Given the description of an element on the screen output the (x, y) to click on. 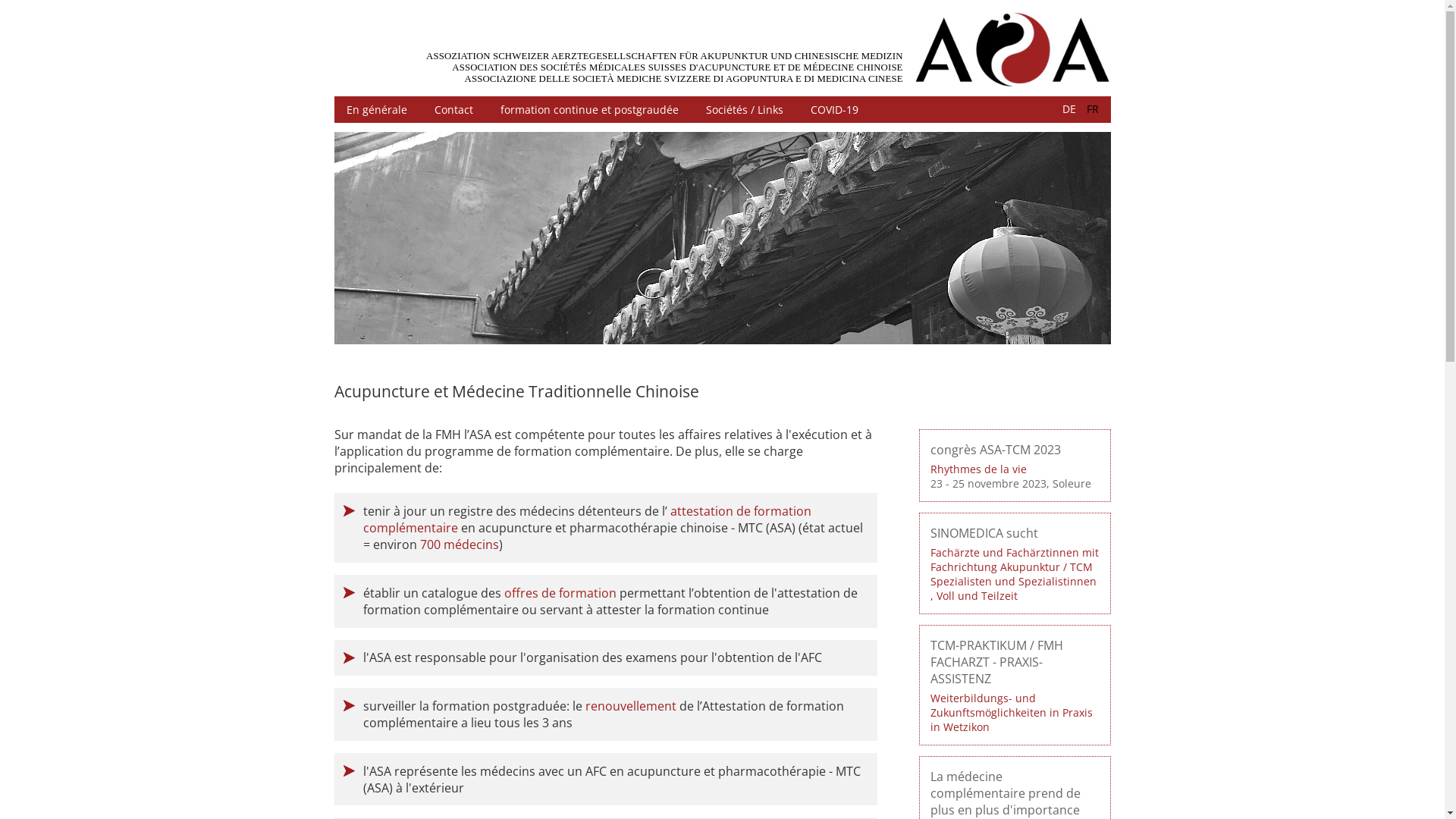
Rhythmes de la vie Element type: text (978, 468)
Contact Element type: text (452, 109)
COVID-19 Element type: text (833, 109)
ASA Element type: hover (1012, 49)
offres de formation Element type: text (560, 592)
renouvellement Element type: text (632, 705)
DE Element type: text (1069, 108)
